Given the description of an element on the screen output the (x, y) to click on. 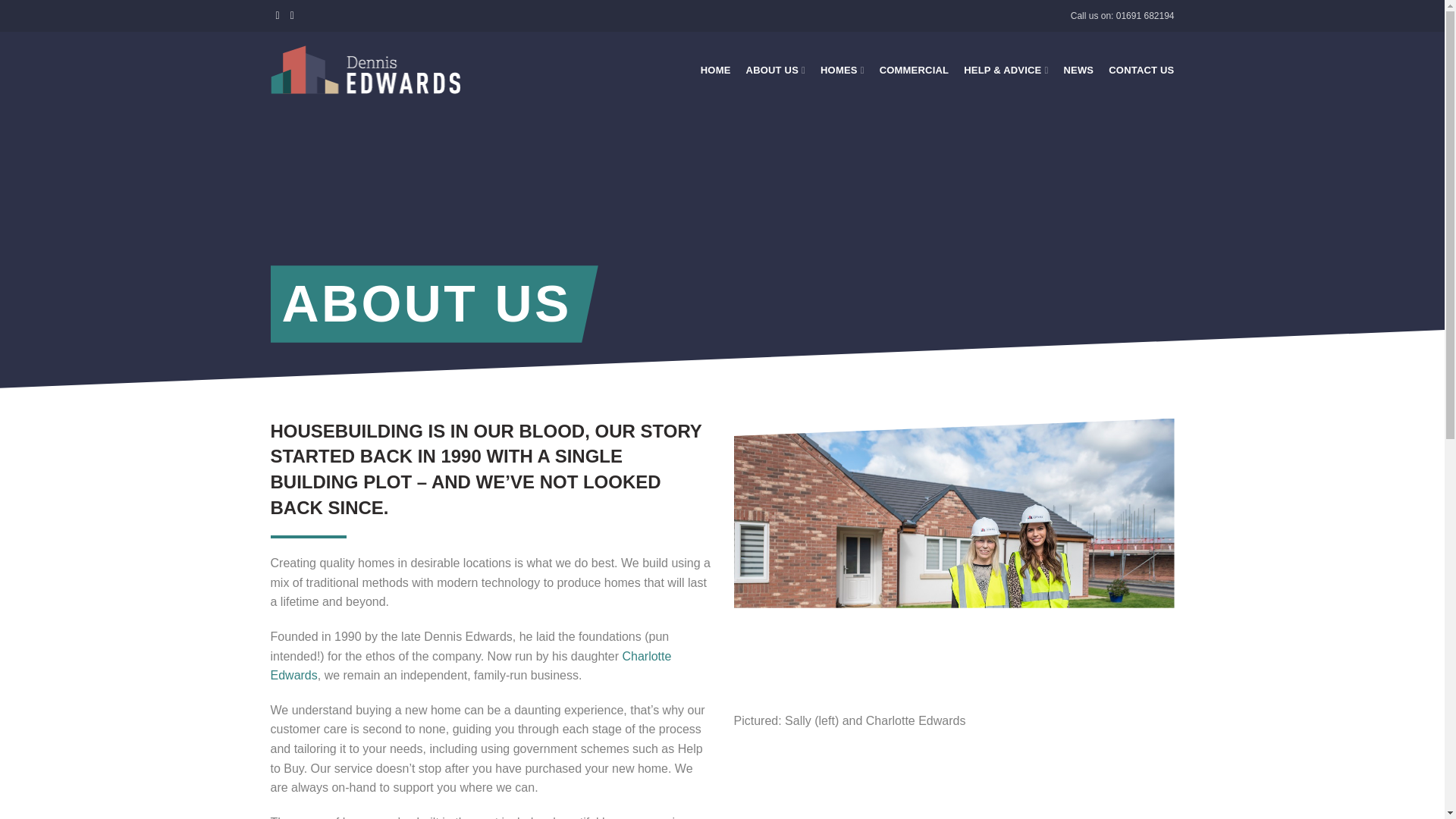
CONTACT US (1140, 69)
NEWS (1077, 69)
HOME (715, 69)
Charlotte Edwards (470, 666)
ABOUT US (775, 69)
HOMES (842, 69)
COMMERCIAL (914, 69)
